Given the description of an element on the screen output the (x, y) to click on. 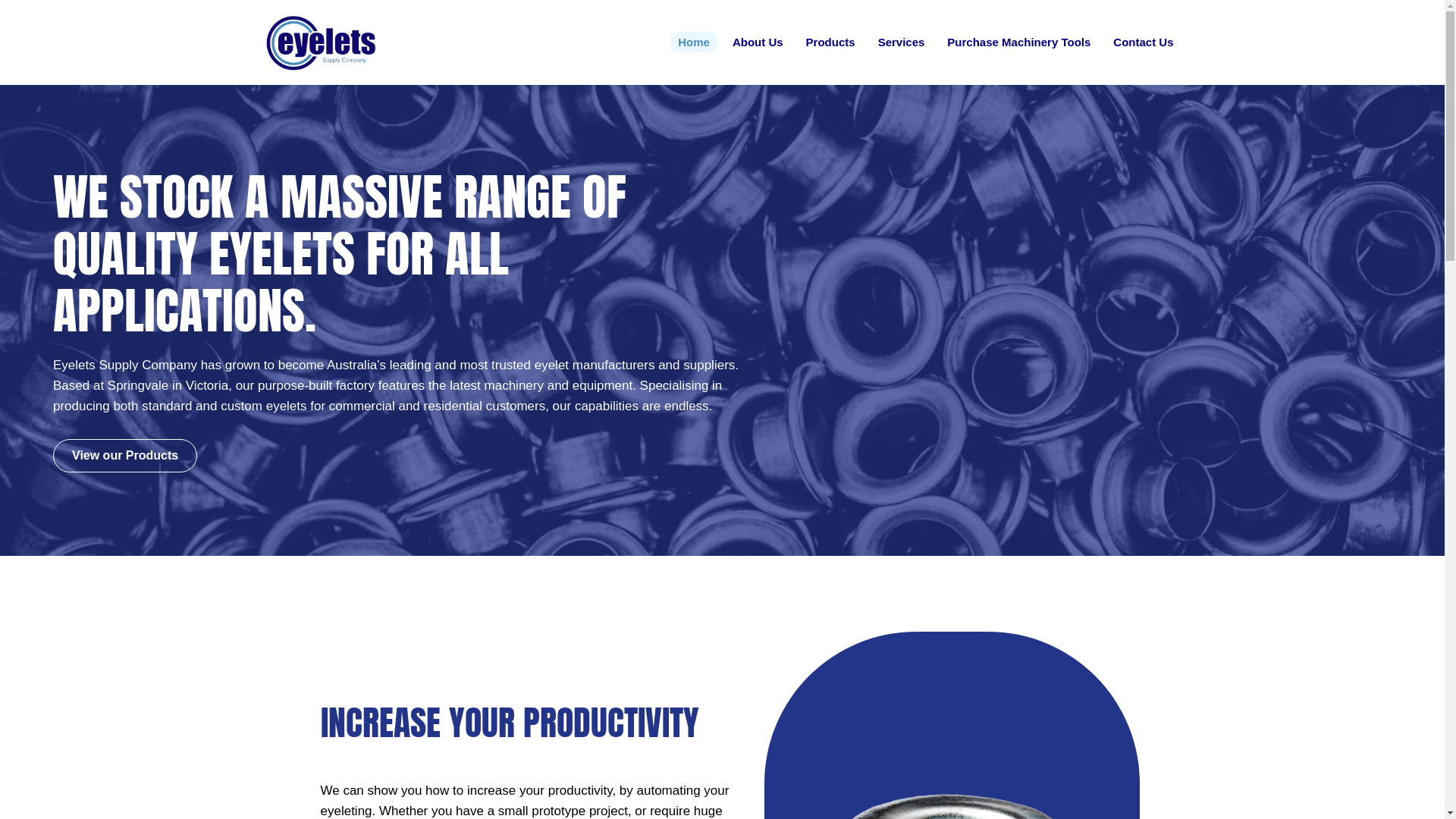
Home Element type: text (693, 41)
View our Products Element type: text (125, 455)
About Us Element type: text (757, 41)
ezgif.com-optimize (3) Element type: hover (320, 42)
Purchase Machinery Tools Element type: text (1018, 41)
Contact Us Element type: text (1142, 41)
Products Element type: text (830, 41)
Services Element type: text (901, 41)
